Given the description of an element on the screen output the (x, y) to click on. 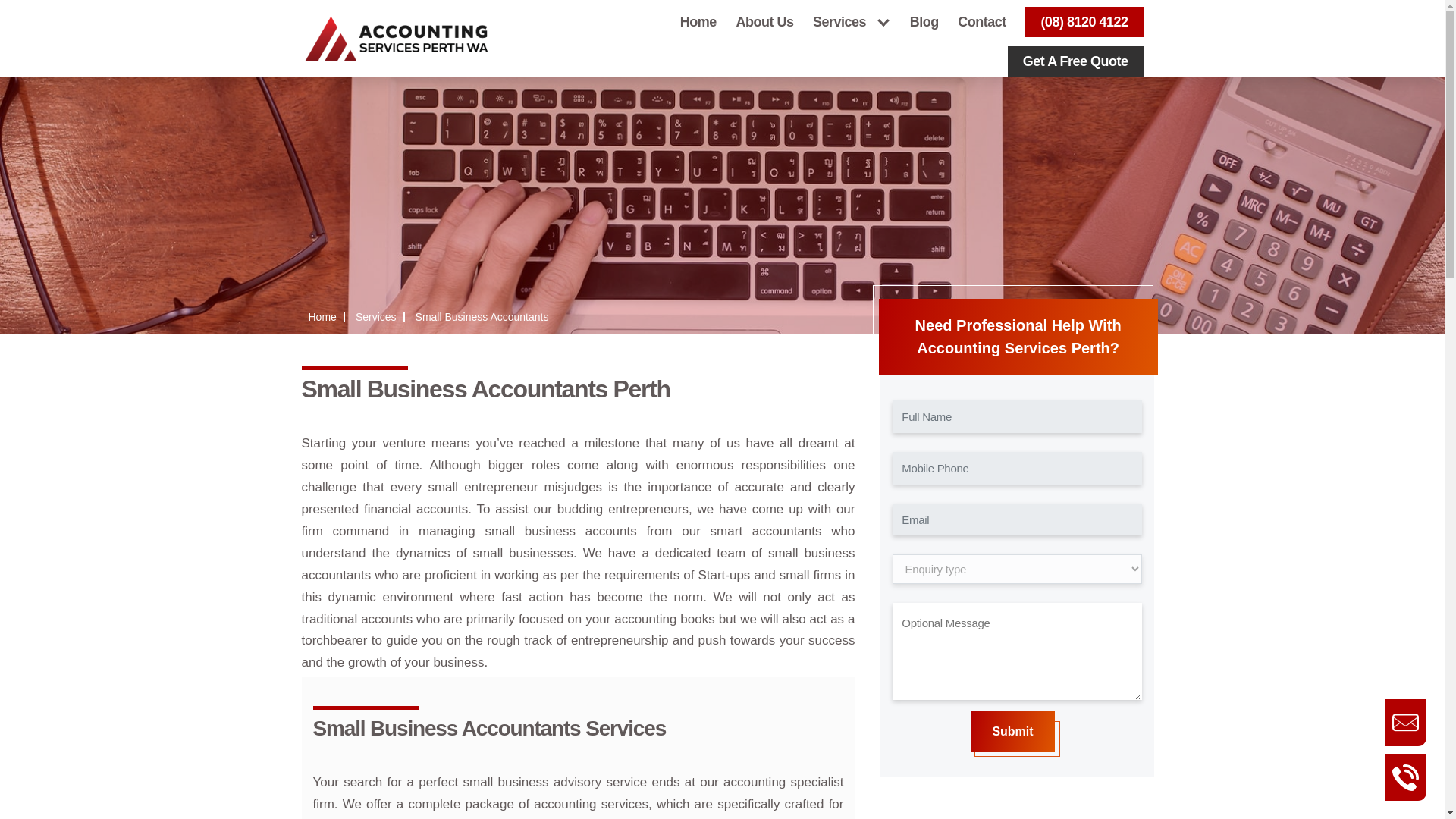
Services (850, 21)
Get A Free Quote (1074, 60)
Contact (982, 21)
Blog (924, 21)
About Us (764, 21)
Home (697, 21)
